Given the description of an element on the screen output the (x, y) to click on. 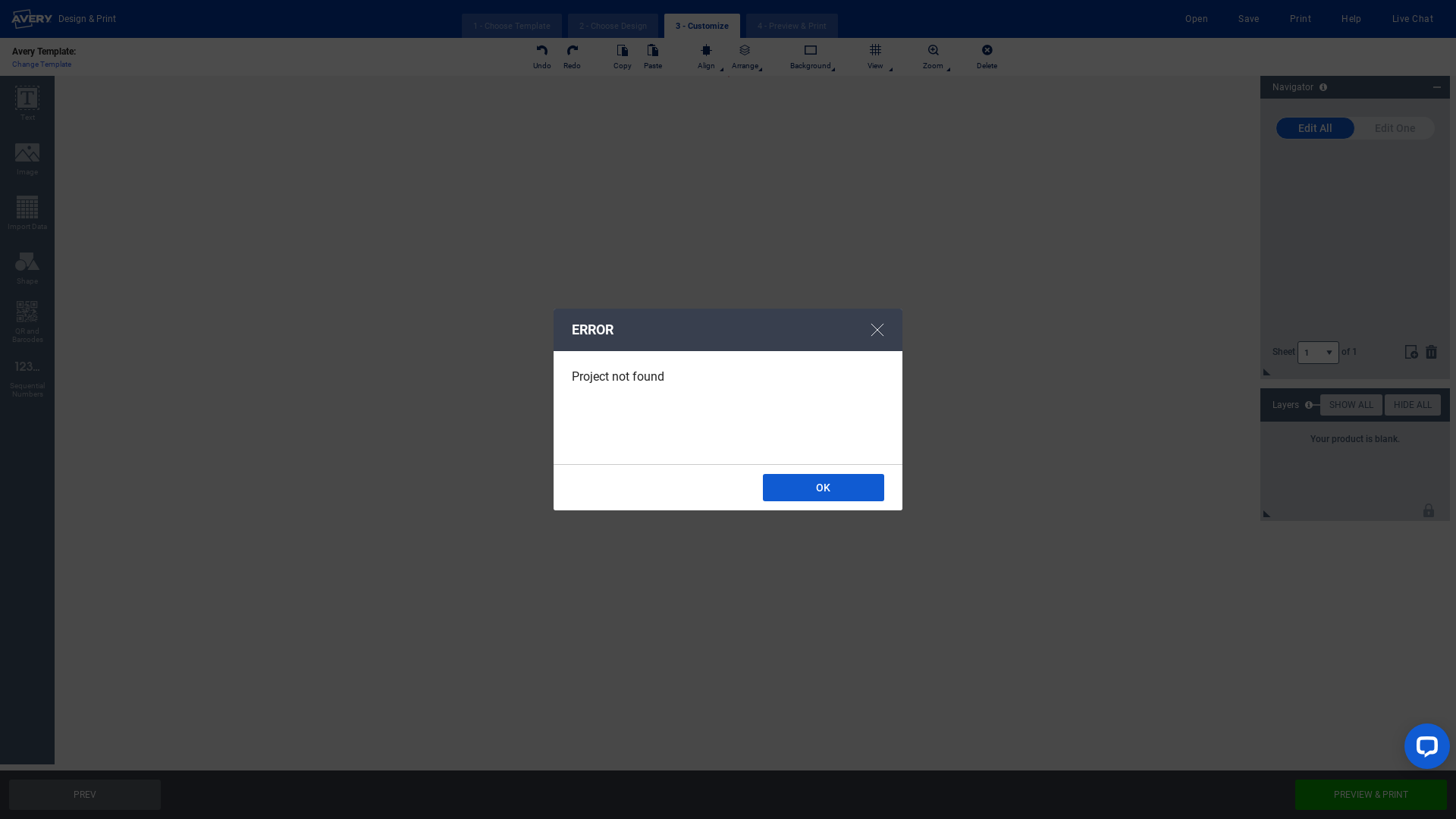
OK Element type: text (823, 487)
Delete Sheet Element type: hover (1430, 350)
Add Sheet Element type: hover (1411, 350)
3 - Customize Element type: text (702, 25)
Print Element type: text (1300, 18)
1 - Choose Template Element type: text (511, 25)
2 - Choose Design Element type: text (612, 25)
Help Element type: text (1351, 18)
PREVIEW & PRINT Element type: text (1370, 794)
HIDE ALL Element type: text (1412, 404)
4 - Preview & Print Element type: text (791, 25)
Design & Print Element type: text (63, 18)
SHOW ALL Element type: text (1351, 404)
PREV Element type: text (84, 794)
Change Template Element type: text (41, 63)
Live Chat Element type: text (1412, 18)
Save Element type: text (1248, 18)
Open Element type: text (1196, 18)
